Given the description of an element on the screen output the (x, y) to click on. 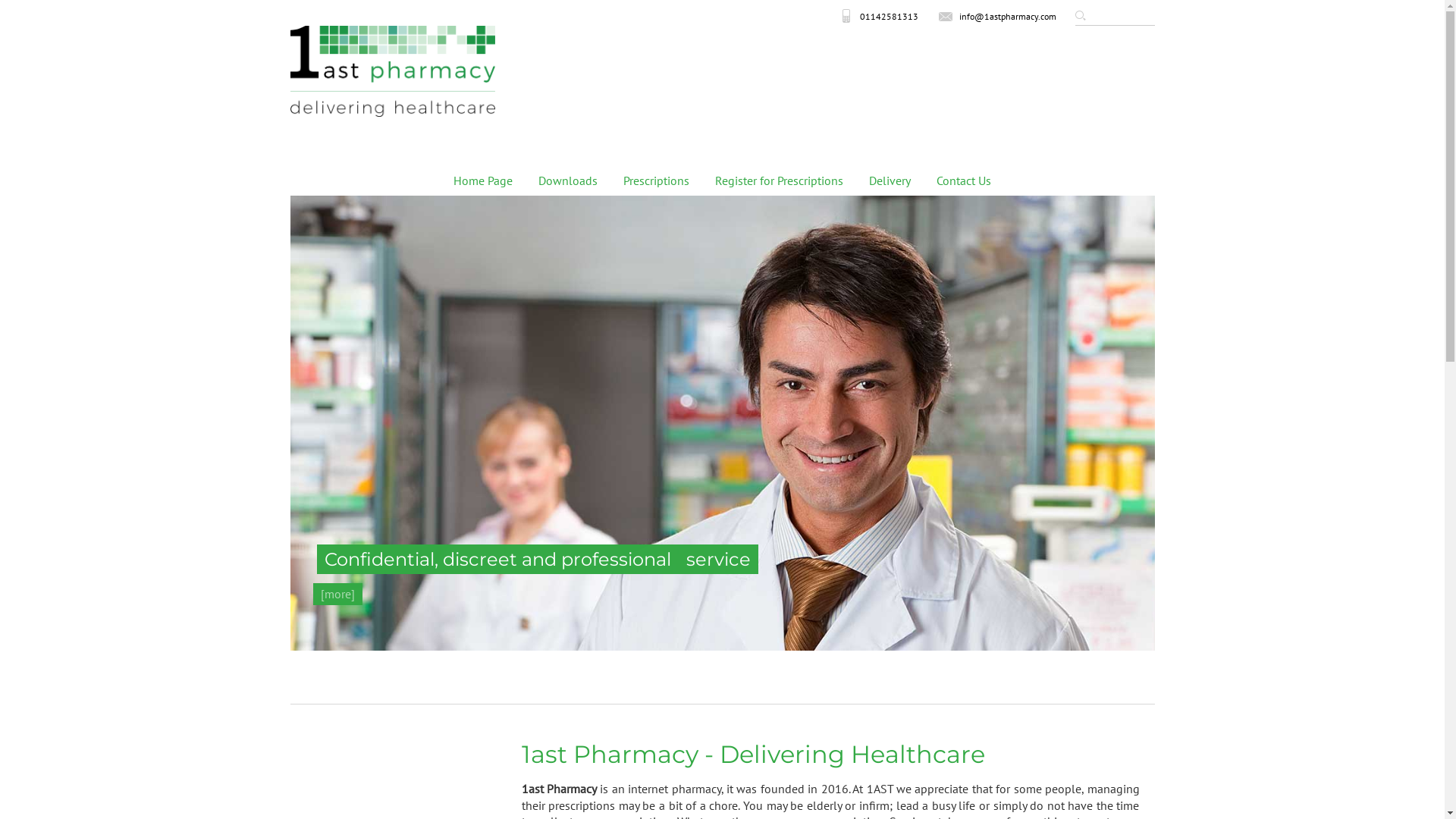
Register for Prescriptions Element type: text (778, 180)
Delivery Element type: text (889, 180)
[more] Element type: text (336, 594)
Home Page Element type: text (483, 180)
Prescriptions Element type: text (655, 180)
Downloads Element type: text (567, 180)
Confidential, discreet and professionalservice Element type: text (537, 558)
Go Element type: text (1079, 16)
Contact Us Element type: text (963, 180)
info@1astpharmacy.com Element type: text (995, 16)
